Given the description of an element on the screen output the (x, y) to click on. 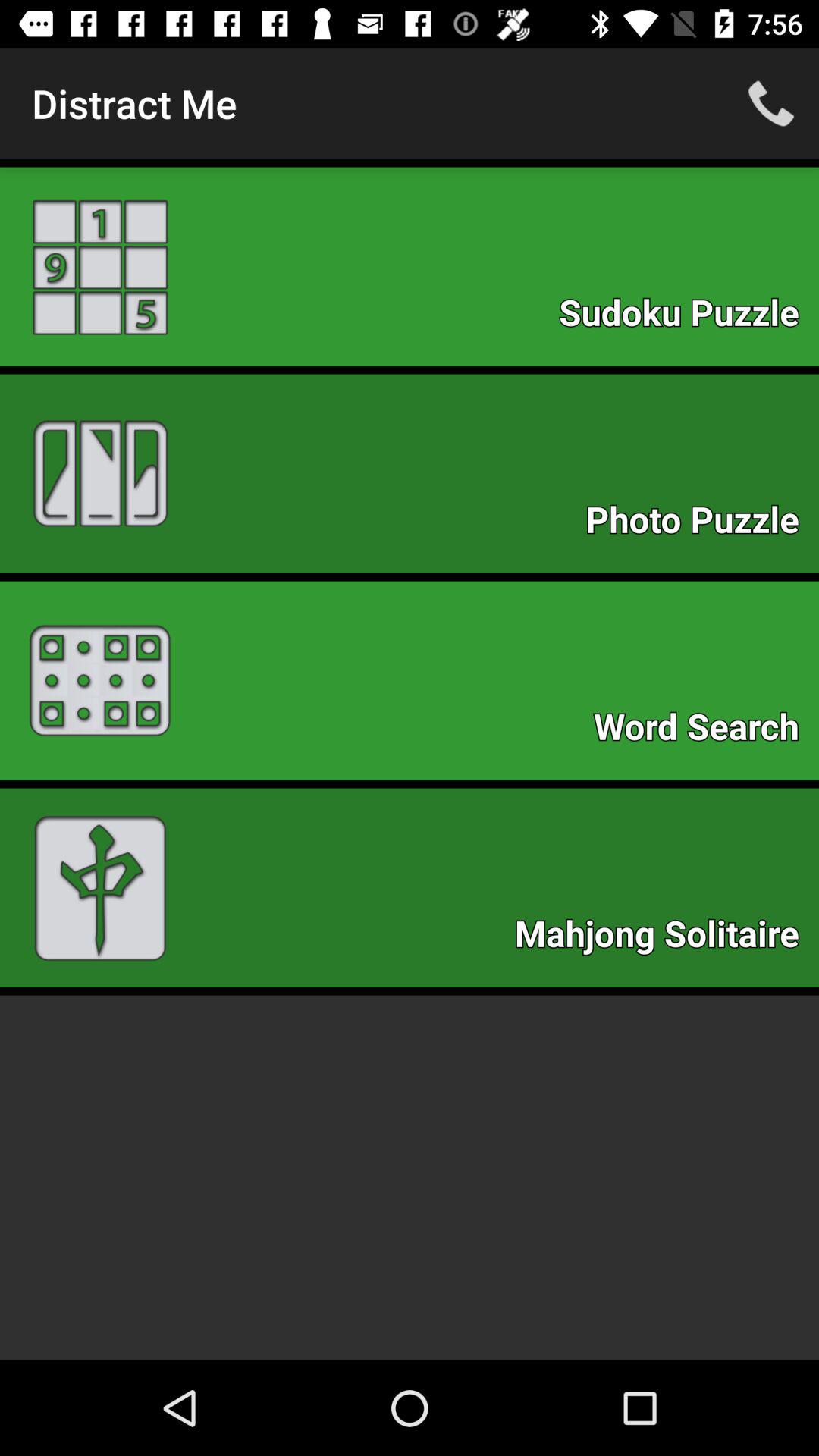
click the item above word search item (700, 523)
